Given the description of an element on the screen output the (x, y) to click on. 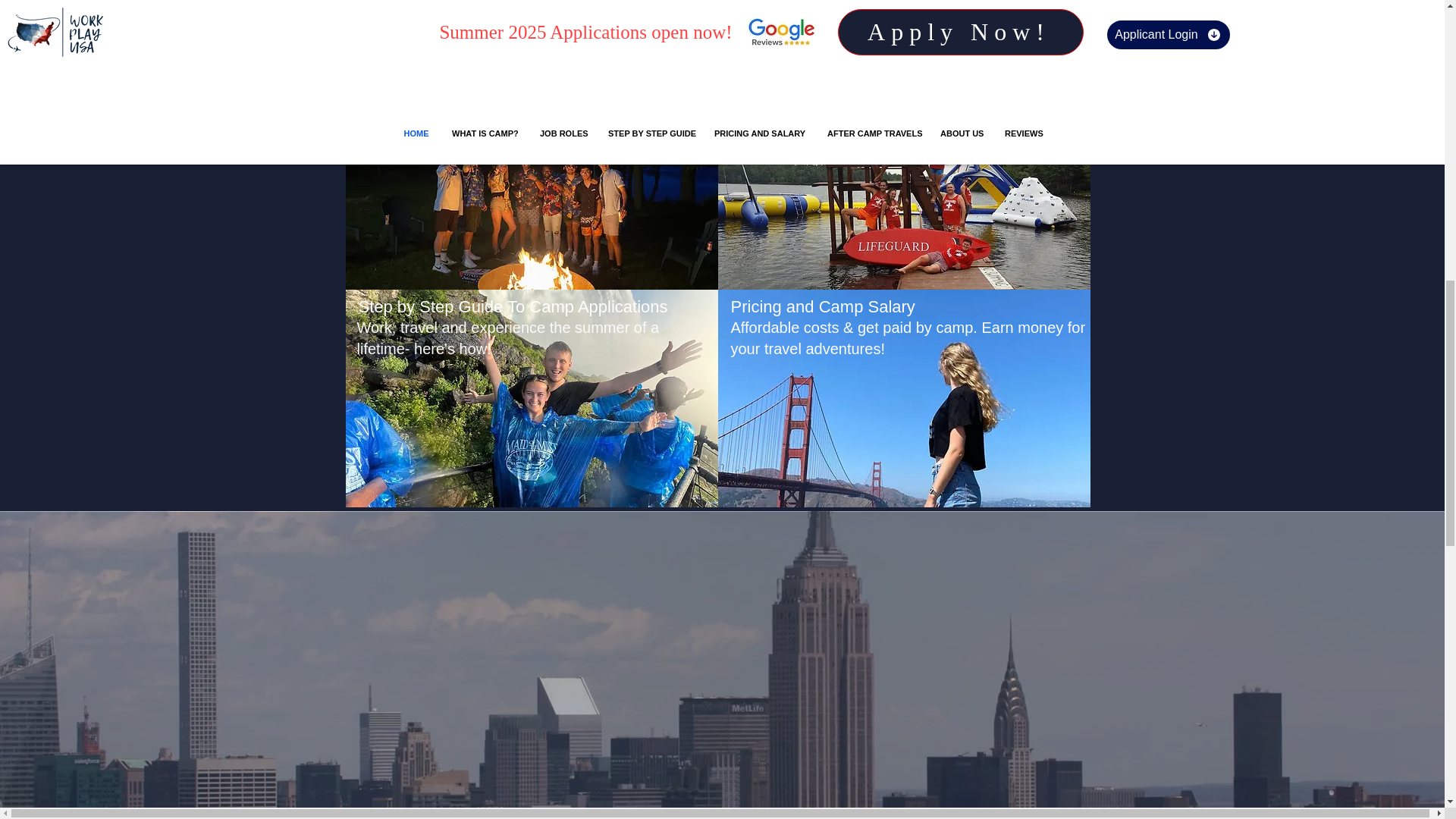
Pricing and Camp Salary (822, 306)
What is Camp? (414, 88)
Step by Step Guide To Camp Applications (512, 306)
Working at a camp in the USA is a summer job like no other!  (528, 124)
There is a job for everyone at camp, no experience required! (901, 124)
Job Roles at Camp (801, 88)
